Given the description of an element on the screen output the (x, y) to click on. 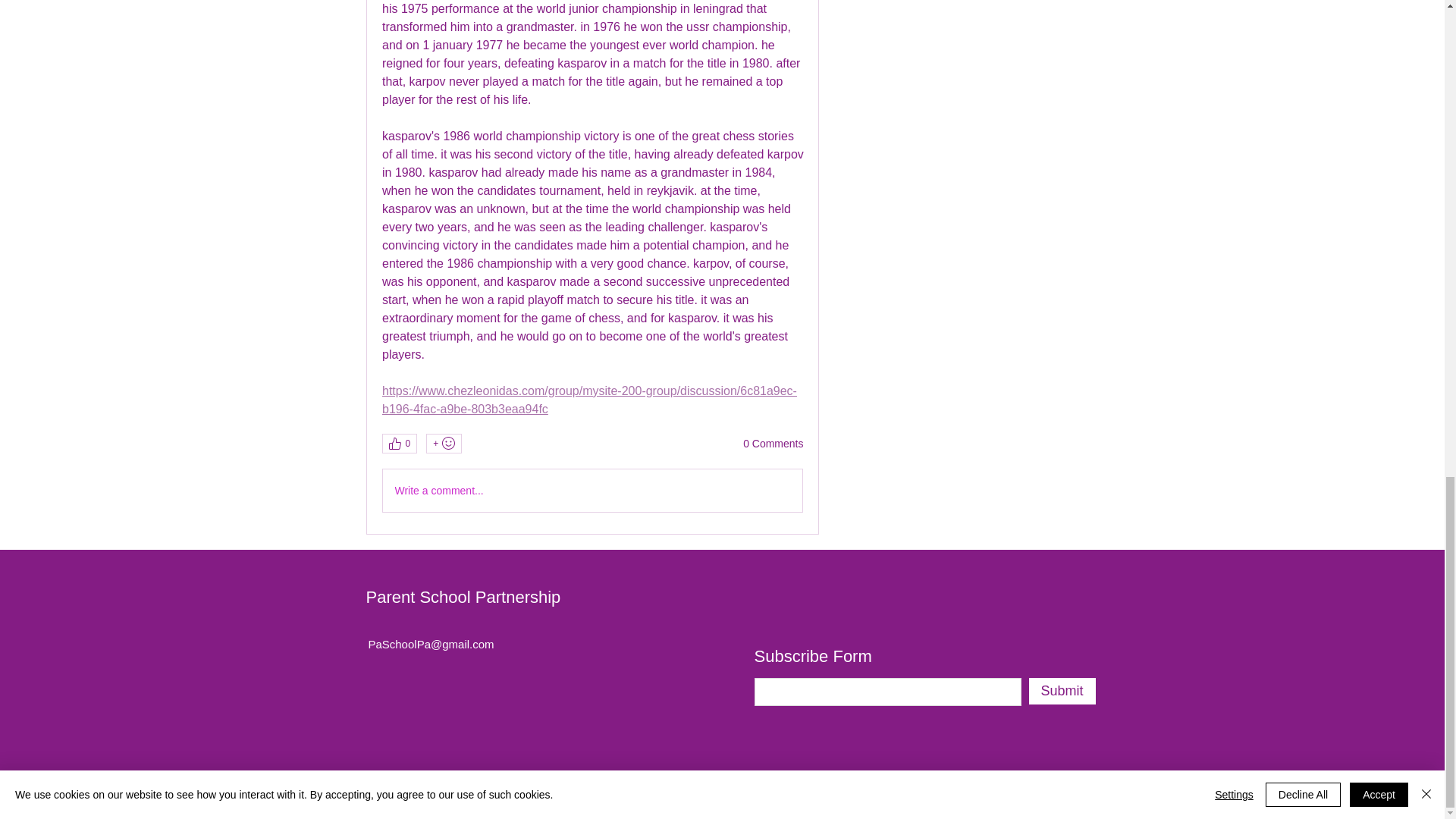
Submit (1060, 691)
0 Comments (772, 444)
Parent School Partnership (462, 597)
Write a comment... (591, 490)
